Given the description of an element on the screen output the (x, y) to click on. 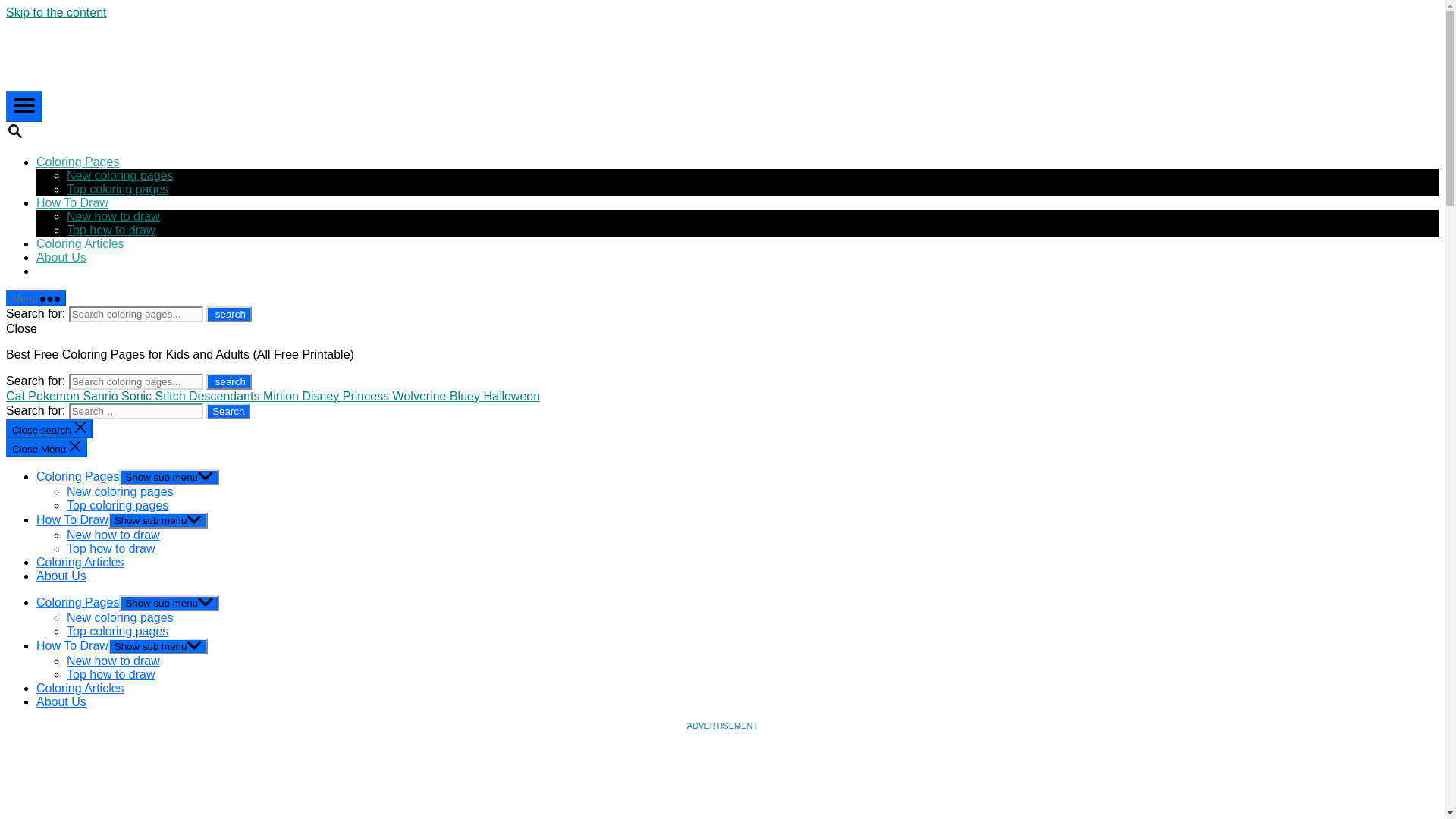
Top coloring pages (117, 504)
Show sub menu (169, 477)
Wolverine (421, 395)
Top how to draw (110, 229)
New coloring pages (119, 174)
ColoringPagesOnly.com (115, 83)
Disney Princess (346, 395)
ColoringPagesOnly.com (115, 53)
Sonic (137, 395)
About Us (60, 575)
